Given the description of an element on the screen output the (x, y) to click on. 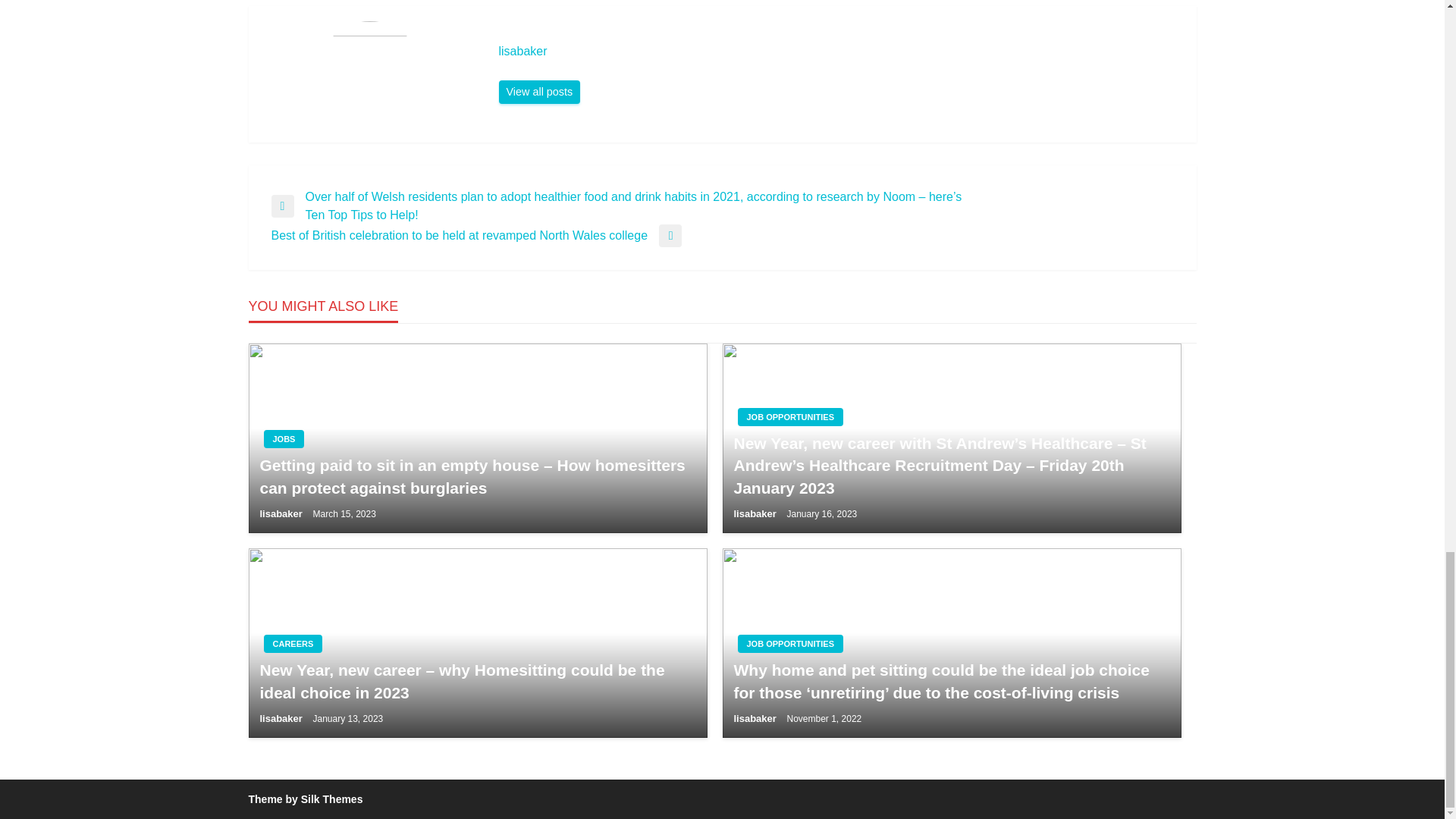
lisabaker (839, 51)
lisabaker (539, 92)
